Given the description of an element on the screen output the (x, y) to click on. 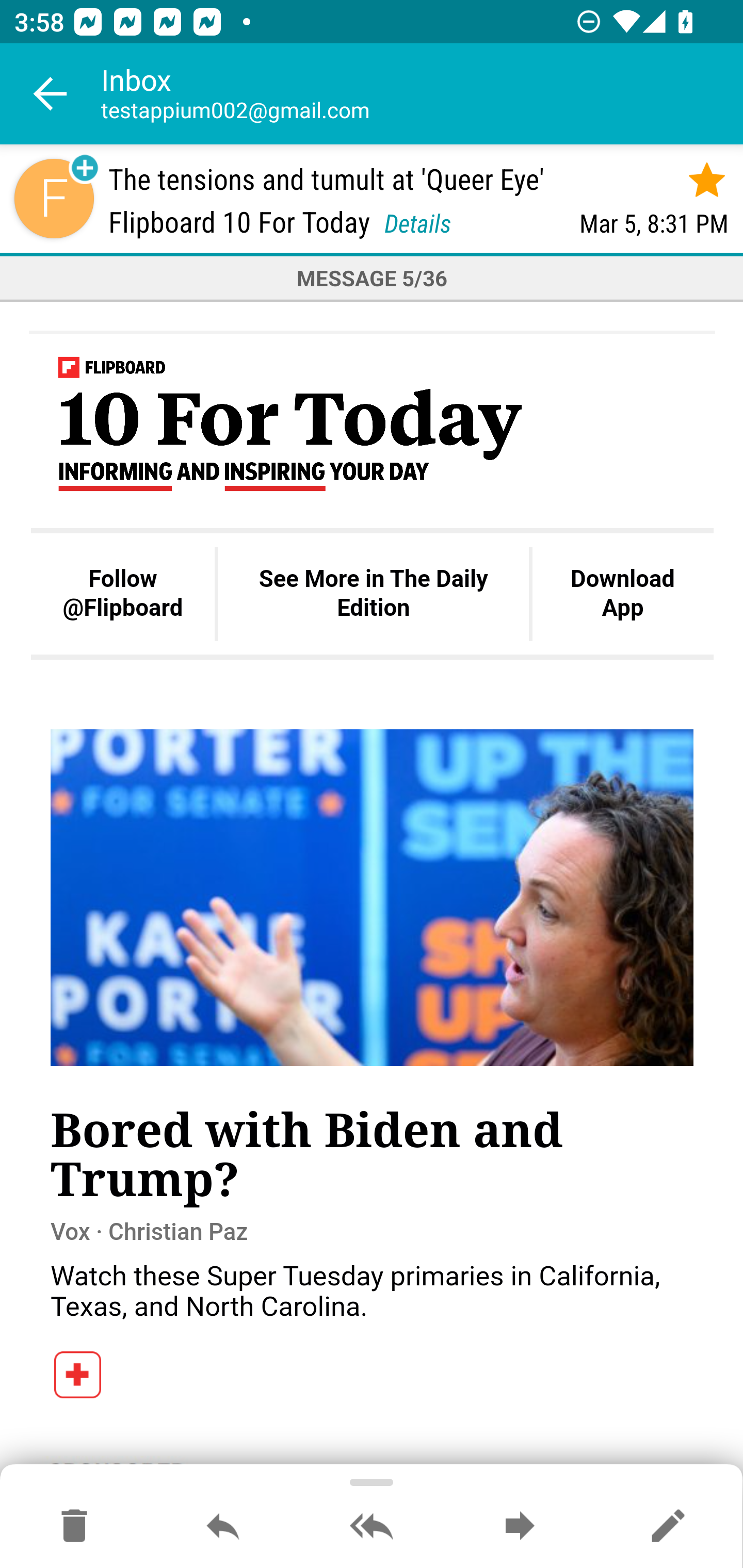
Navigate up (50, 93)
Inbox testappium002@gmail.com (422, 93)
Sender contact button (53, 198)
Follow @Flipboard Follow  @Flipboard (122, 593)
See More in The Daily Edition (372, 593)
Download App (622, 593)
FLIP  (78, 1377)
Move to Deleted (74, 1527)
Reply (222, 1527)
Reply all (371, 1527)
Forward (519, 1527)
Reply as new (667, 1527)
